Given the description of an element on the screen output the (x, y) to click on. 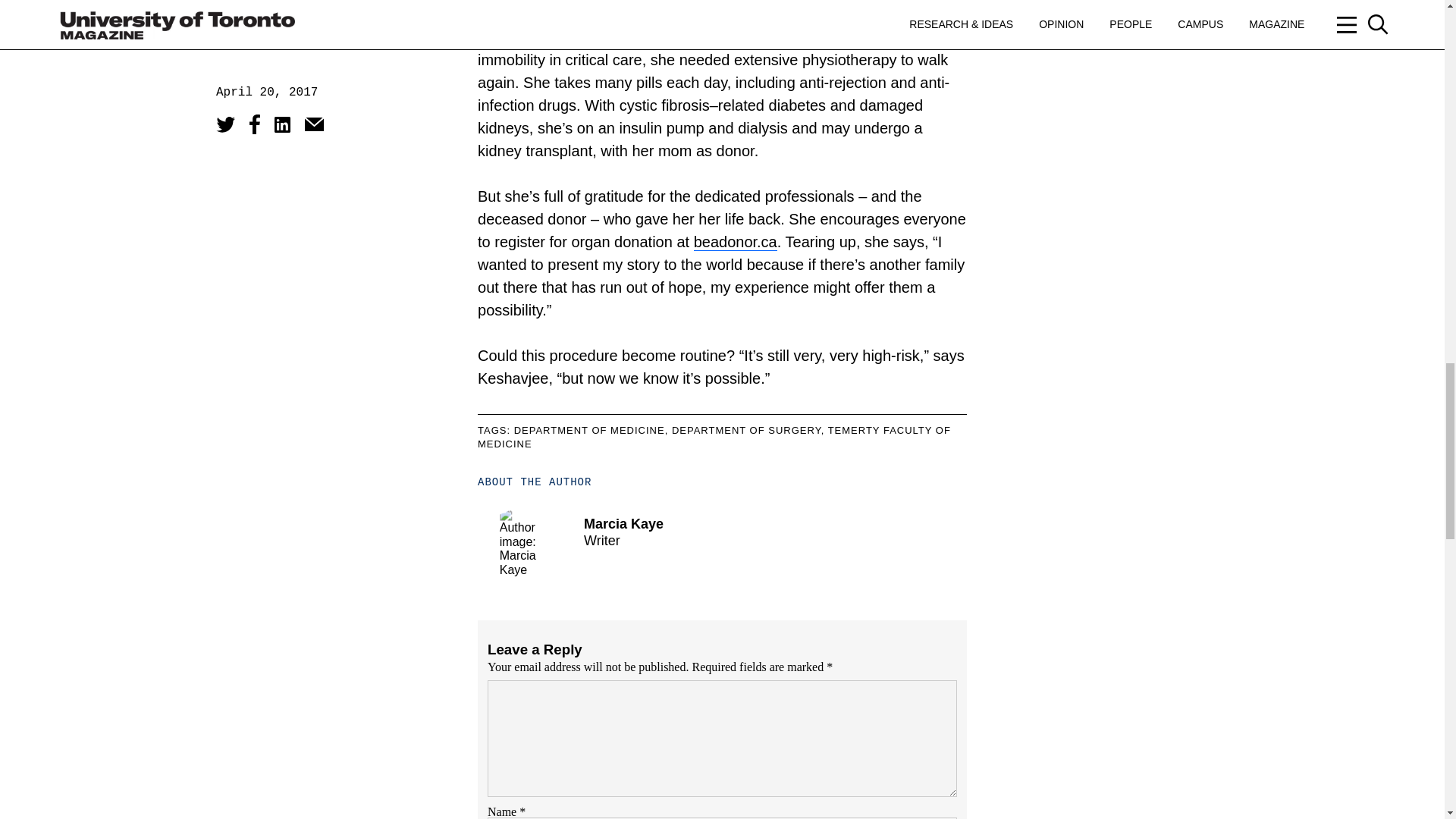
DEPARTMENT OF SURGERY (746, 430)
DEPARTMENT OF MEDICINE (589, 430)
TEMERTY FACULTY OF MEDICINE (713, 437)
beadonor.ca (735, 241)
Marcia Kaye (623, 523)
